Given the description of an element on the screen output the (x, y) to click on. 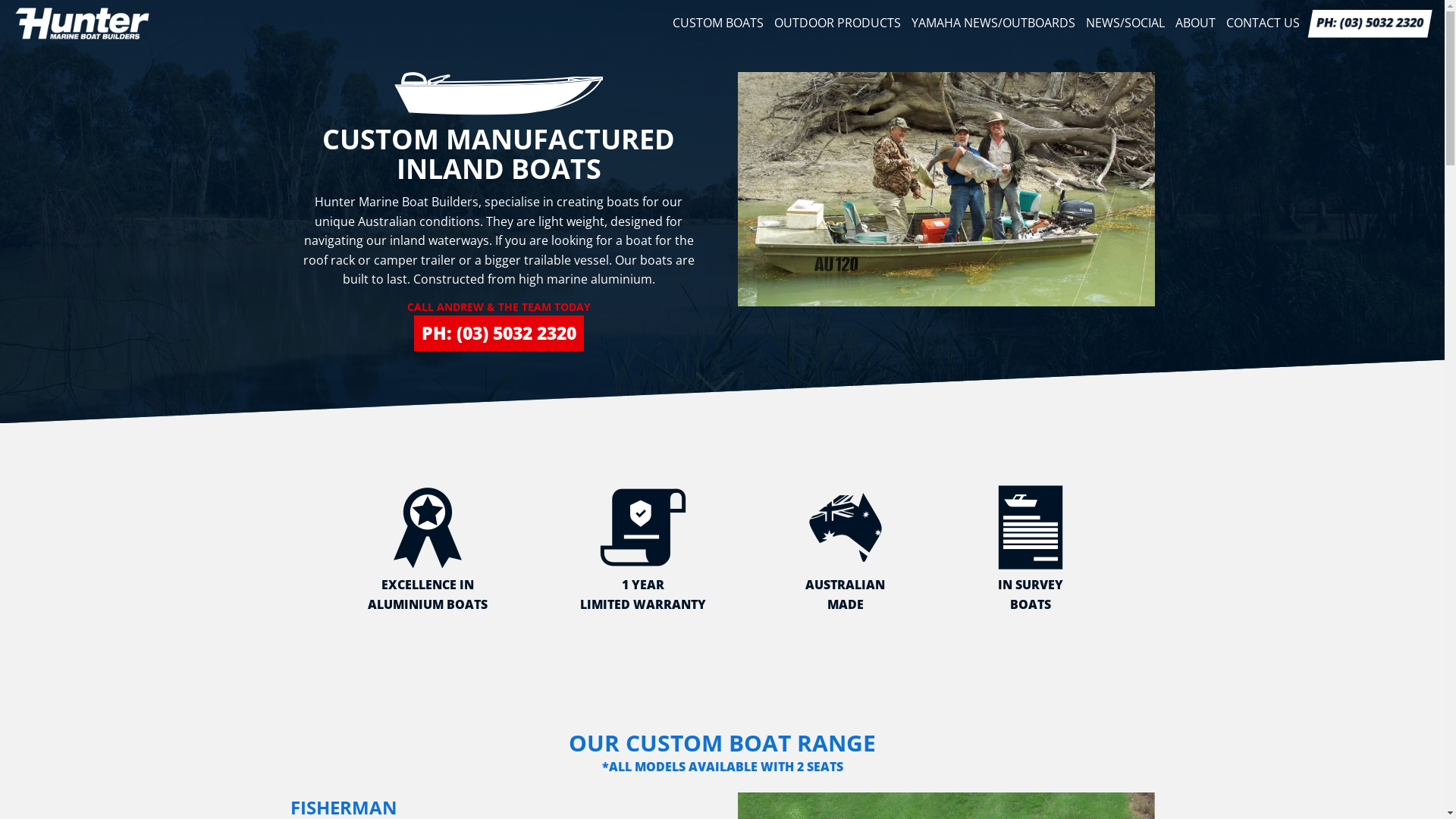
PH: (03) 5032 2320 Element type: text (498, 333)
CONTACT US Element type: text (1262, 23)
OUTDOOR PRODUCTS Element type: text (837, 23)
YAMAHA NEWS/OUTBOARDS Element type: text (993, 23)
ABOUT Element type: text (1195, 23)
NEWS/SOCIAL Element type: text (1124, 23)
PH: (03) 5032 2320 Element type: text (1367, 23)
CUSTOM BOATS Element type: text (717, 23)
